Given the description of an element on the screen output the (x, y) to click on. 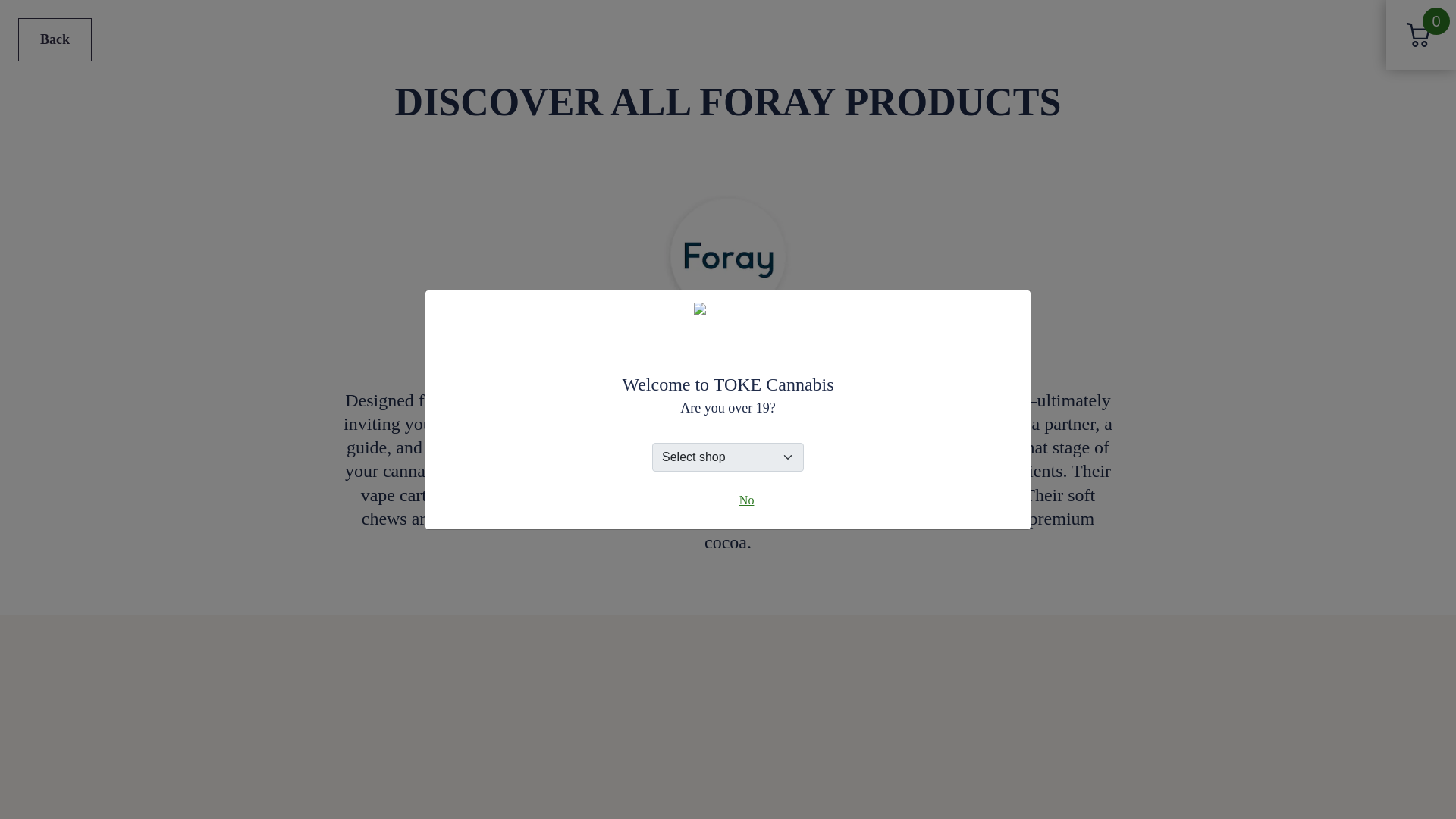
No (746, 500)
Back (54, 39)
Yes (705, 500)
